Given the description of an element on the screen output the (x, y) to click on. 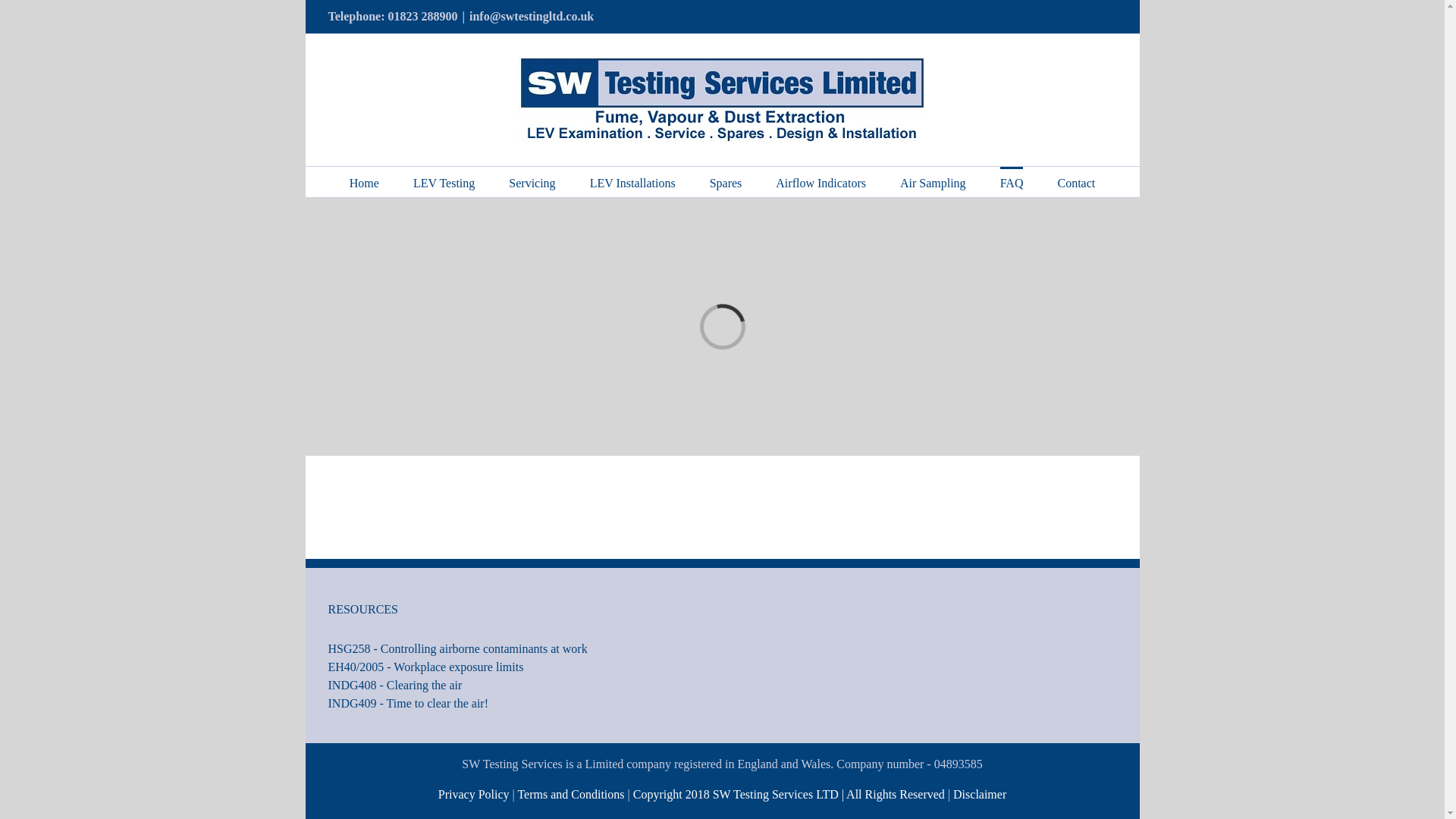
Privacy Policy (473, 793)
Contact (1075, 182)
Servicing (531, 182)
Airflow Indicators (821, 182)
LEV Testing (443, 182)
HSG258 - Controlling airborne contaminants at work (518, 648)
Spares (726, 182)
01823 288900 (422, 15)
Home (363, 182)
INDG409 - Time to clear the air! (518, 703)
INDG408 - Clearing the air (518, 685)
Disclaimer (979, 793)
LEV Installations (632, 182)
Terms and Conditions (571, 793)
Air Sampling (932, 182)
